Given the description of an element on the screen output the (x, y) to click on. 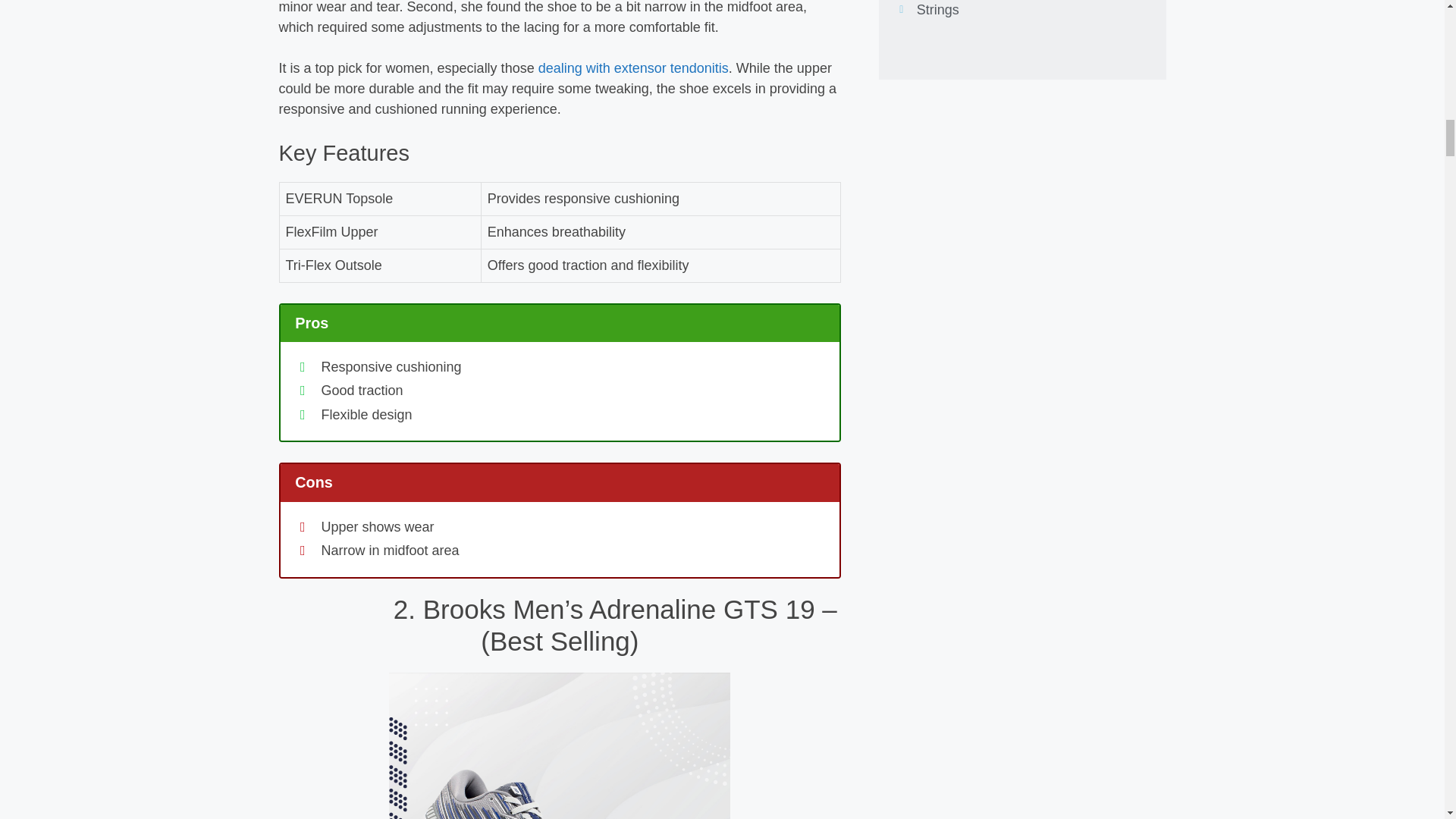
dealing with extensor tendonitis (633, 68)
